Given the description of an element on the screen output the (x, y) to click on. 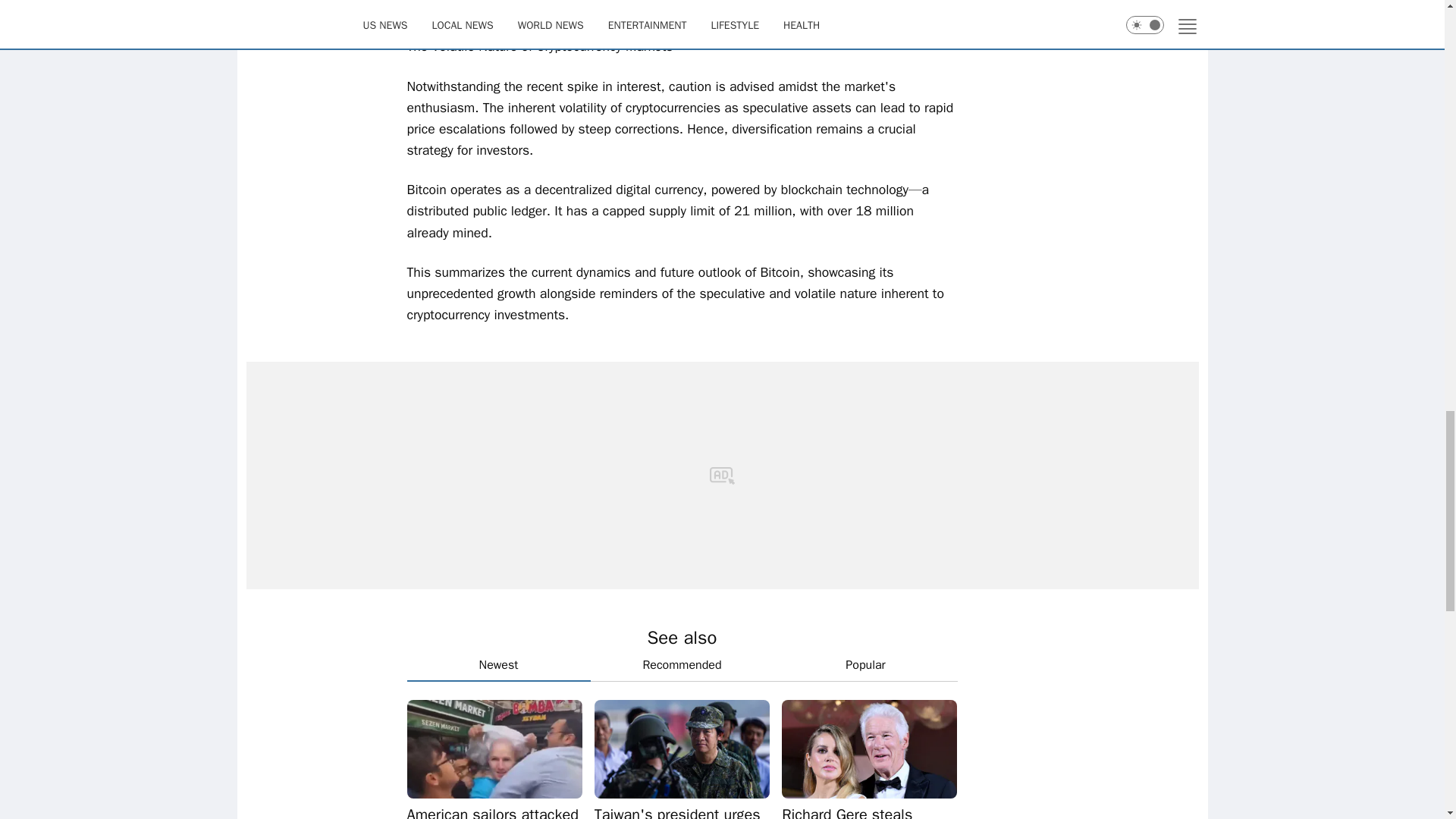
Richard Gere steals Venice spotlight with romantic gesture (868, 811)
Richard Gere steals Venice spotlight with romantic gesture (868, 811)
Popular (864, 665)
Newest (497, 665)
